Given the description of an element on the screen output the (x, y) to click on. 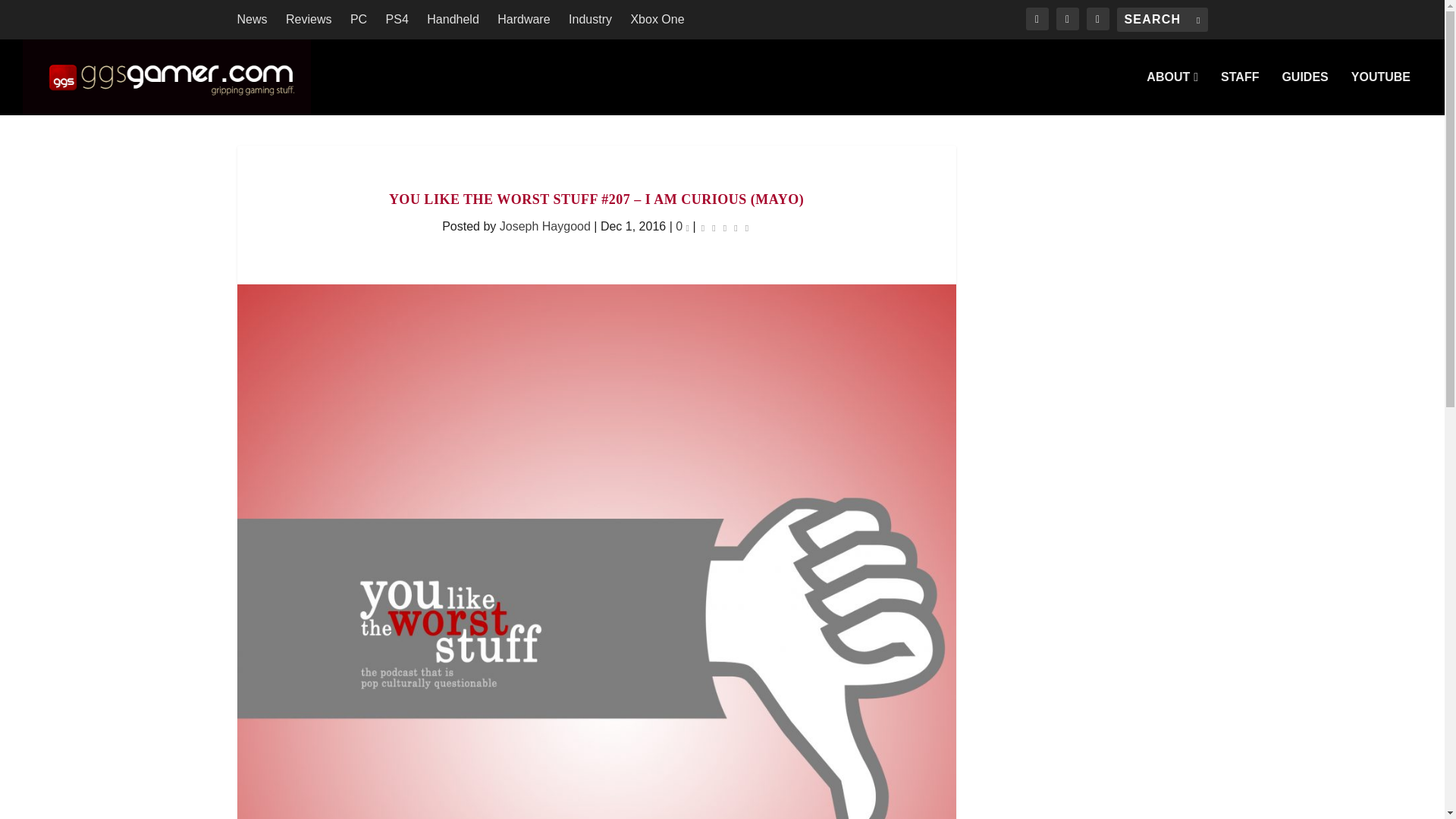
Posts by Joseph Haygood (545, 226)
Search for: (1161, 19)
Industry (590, 19)
Rating: 0.00 (724, 227)
0 (681, 226)
Hardware (523, 19)
Handheld (452, 19)
Xbox One (657, 19)
YOUTUBE (1380, 93)
ABOUT (1172, 93)
Joseph Haygood (545, 226)
Reviews (308, 19)
GUIDES (1304, 93)
